Given the description of an element on the screen output the (x, y) to click on. 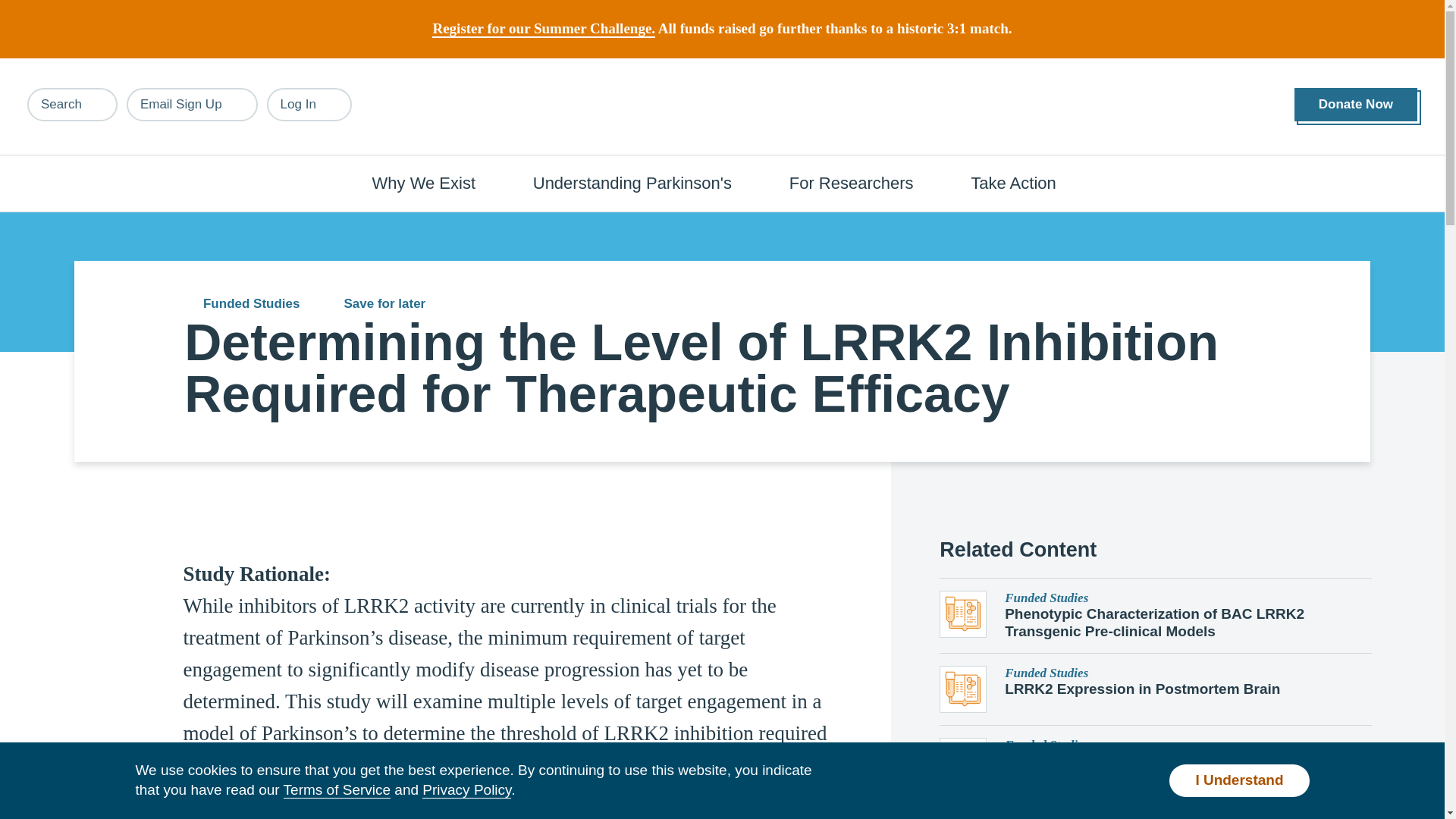
Log In (309, 104)
Understanding Parkinson's (640, 182)
Donate Now (1355, 104)
Dismiss (1302, 18)
Skip to main content (96, 7)
Home Page (722, 106)
Search (72, 104)
Email Sign Up (191, 104)
Why We Exist (432, 182)
